Given the description of an element on the screen output the (x, y) to click on. 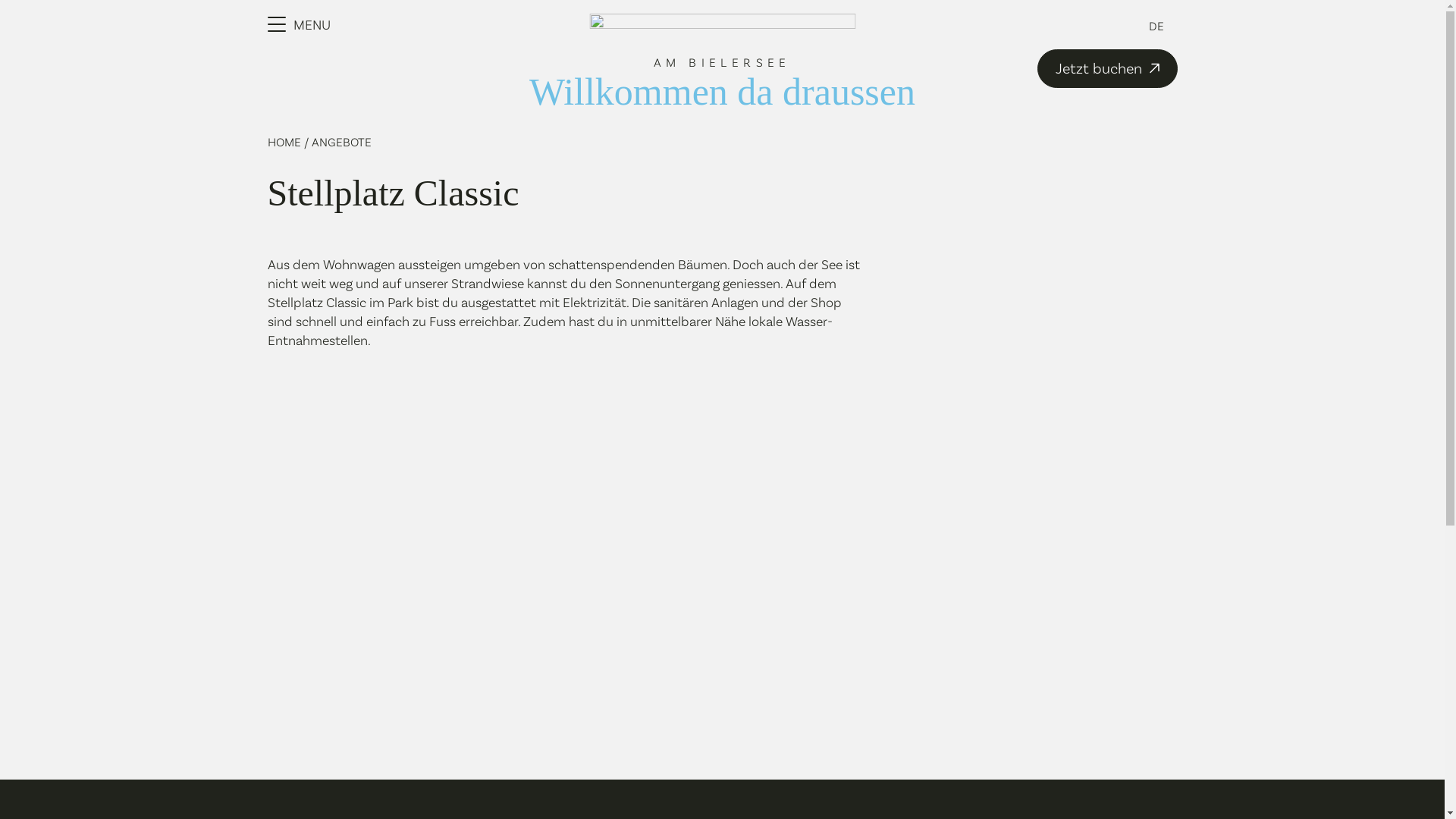
MENU Element type: text (297, 23)
Jetzt buchen Element type: text (1107, 68)
HOME Element type: text (284, 141)
